Given the description of an element on the screen output the (x, y) to click on. 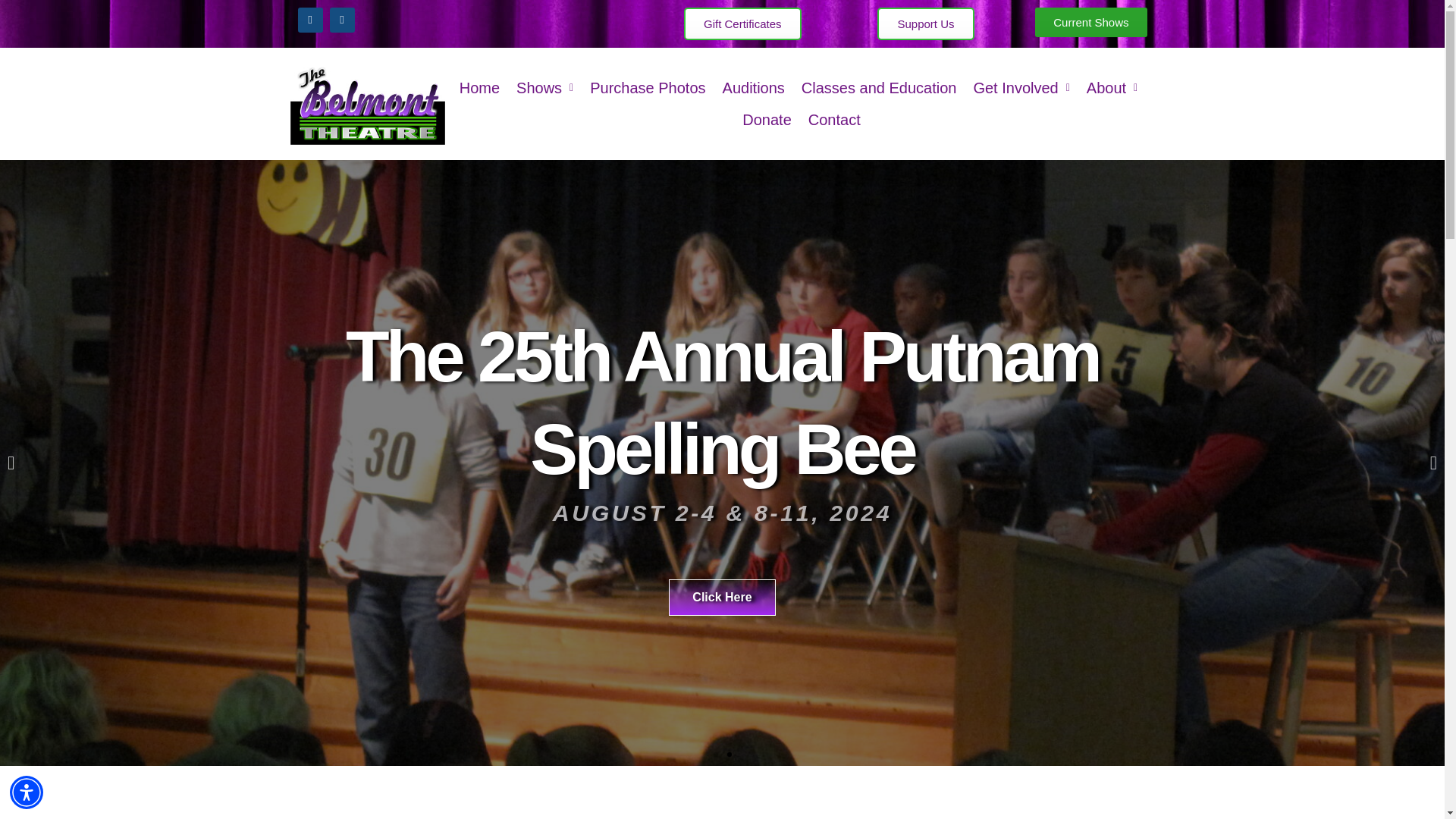
About (1111, 88)
Gift Certificates (743, 23)
Auditions (753, 88)
Home (479, 88)
Classes and Education (879, 88)
Support Us (925, 23)
Contact (834, 119)
Purchase Photos (647, 88)
Donate (766, 119)
Get Involved (1021, 88)
Accessibility Menu (26, 792)
Current Shows (1091, 21)
Shows (544, 88)
